Given the description of an element on the screen output the (x, y) to click on. 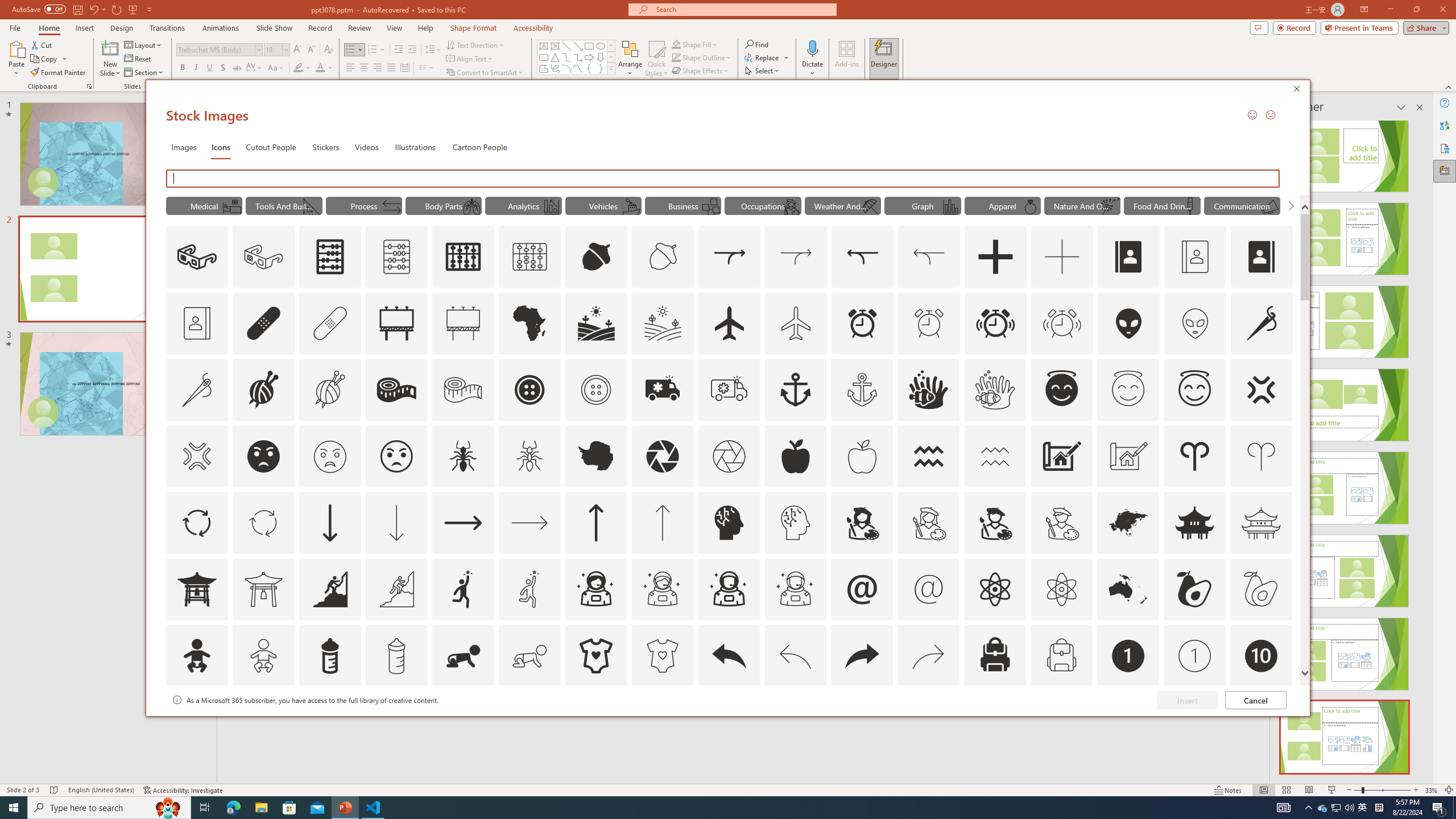
"Process" Icons. (363, 205)
"Nature And Outdoors" Icons. (1082, 205)
AutomationID: Icons_Agriculture (596, 323)
AutomationID: _134_Angel_Face_A (1061, 388)
AutomationID: Icons_3dGlasses_M (263, 256)
AutomationID: Icons_AsianTemple1_M (263, 588)
AutomationID: Icons_ArrowCircle (196, 522)
AutomationID: Icons_AngerSymbol (1260, 389)
AutomationID: Icons_AnemoneAndClownfish_M (995, 389)
AutomationID: Icons_Inpatient_M (231, 206)
